Given the description of an element on the screen output the (x, y) to click on. 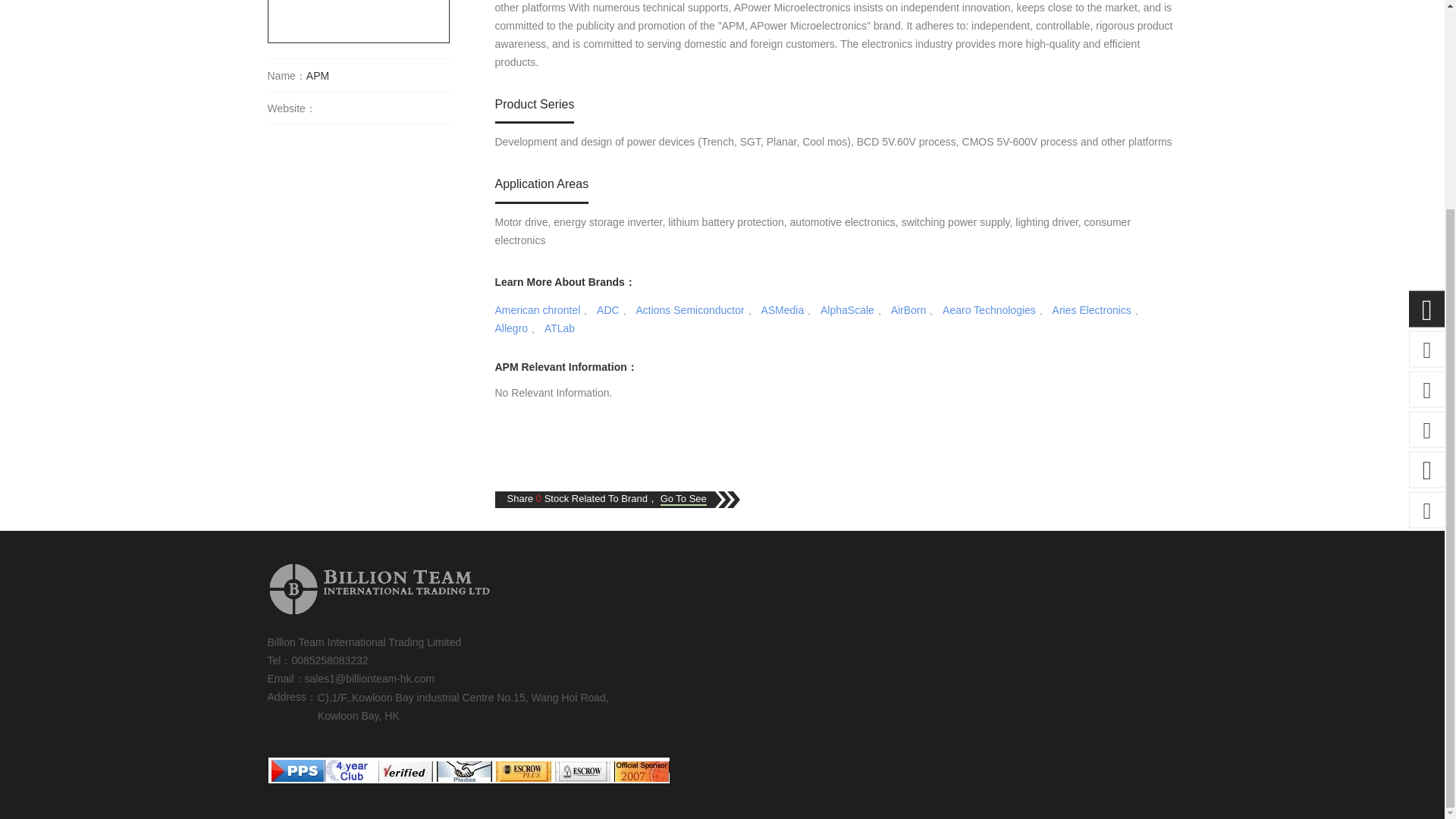
American chrontel (537, 309)
ASMedia (781, 309)
AirBorn (908, 309)
AlphaScale (848, 309)
ATLab (559, 328)
Aries Electronics (1091, 309)
Go To See (683, 499)
Aearo Technologies (988, 309)
Allegro (511, 328)
Actions Semiconductor (689, 309)
ADC (608, 309)
